Given the description of an element on the screen output the (x, y) to click on. 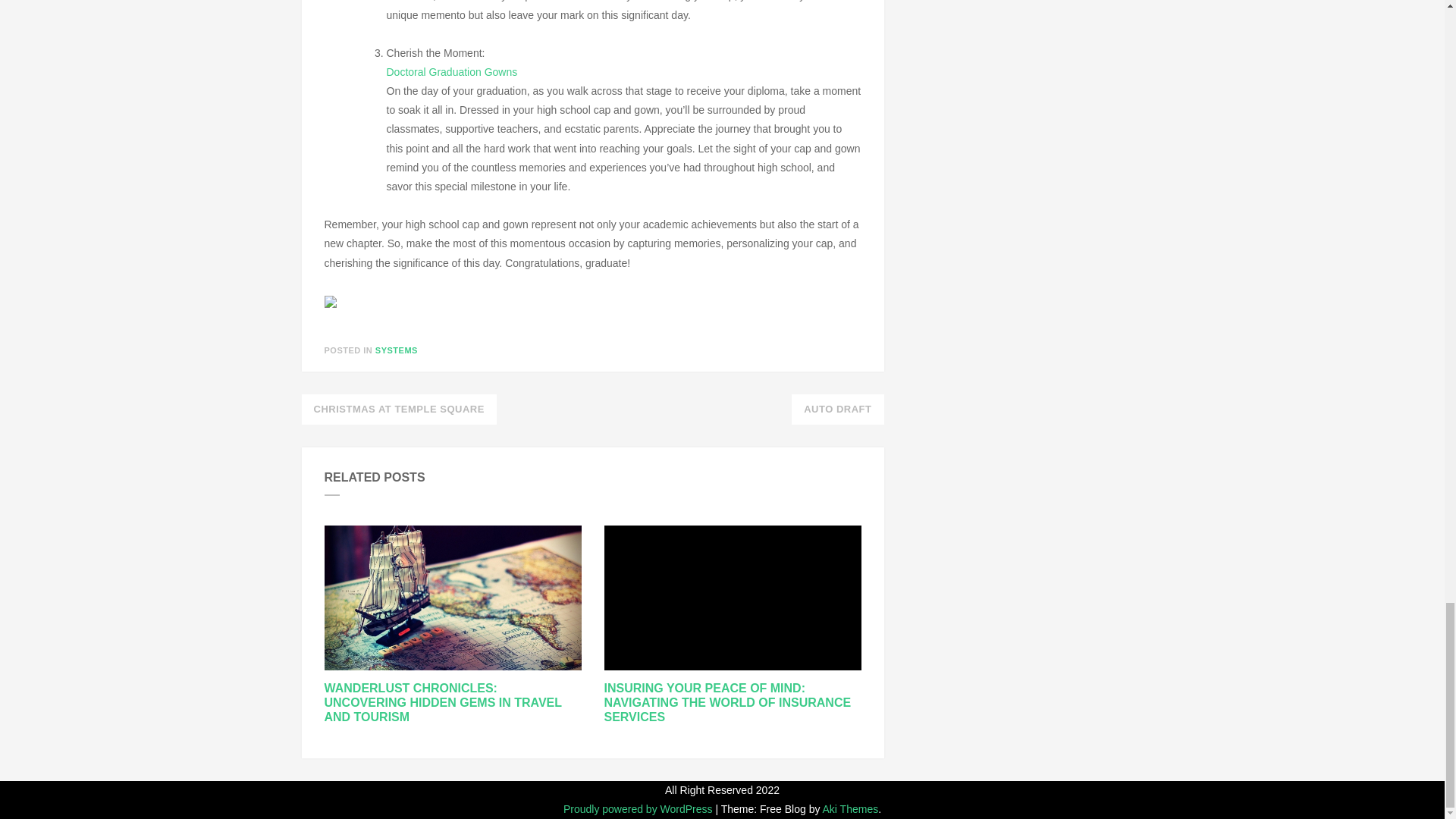
AUTO DRAFT (837, 409)
Proudly powered by WordPress (639, 808)
SYSTEMS (396, 349)
Doctoral Graduation Gowns (452, 71)
Aki Themes (850, 808)
CHRISTMAS AT TEMPLE SQUARE (398, 409)
